Given the description of an element on the screen output the (x, y) to click on. 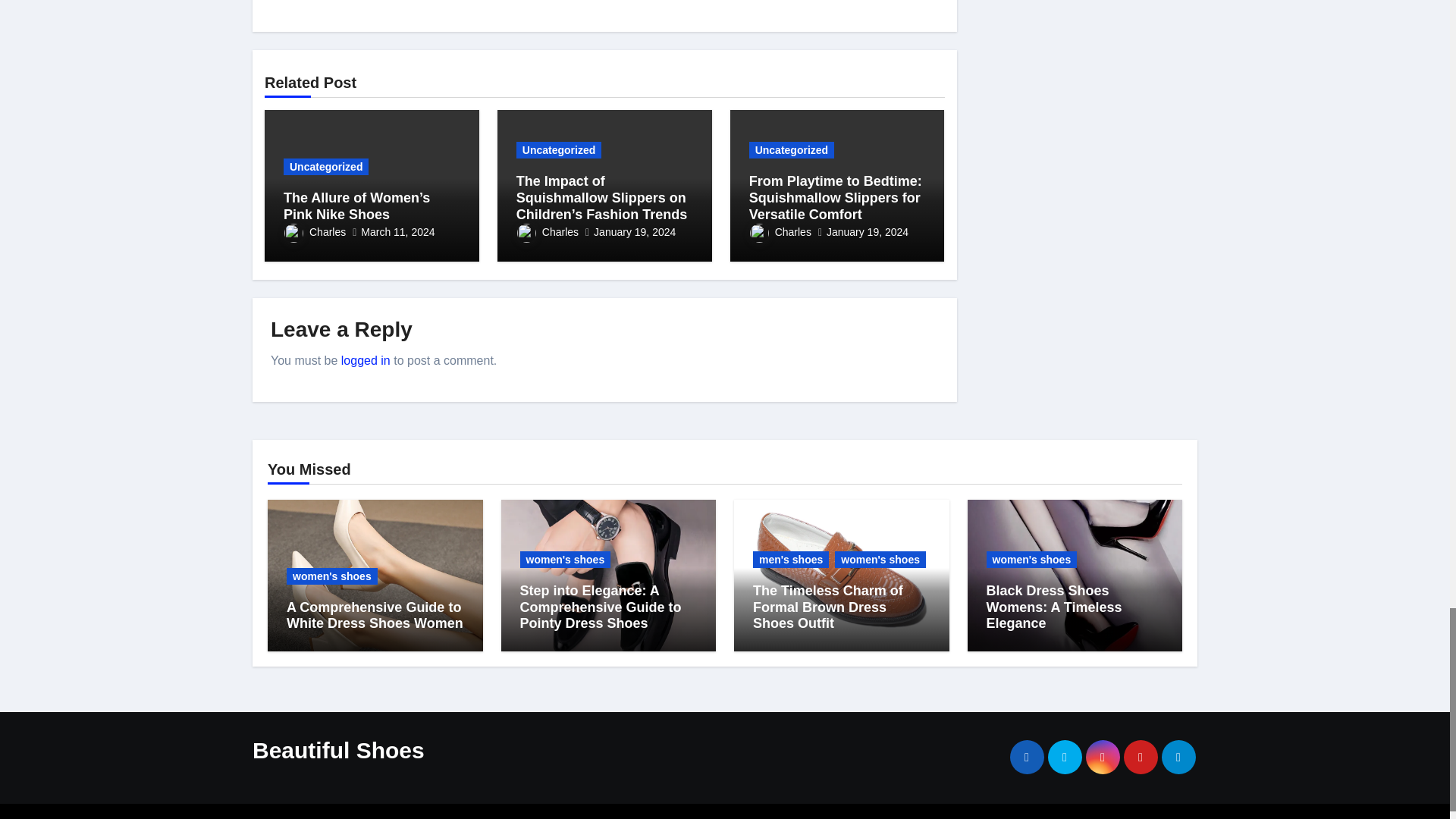
Permalink to: Black Dress Shoes Womens: A Timeless Elegance (1053, 606)
Uncategorized (325, 166)
